Given the description of an element on the screen output the (x, y) to click on. 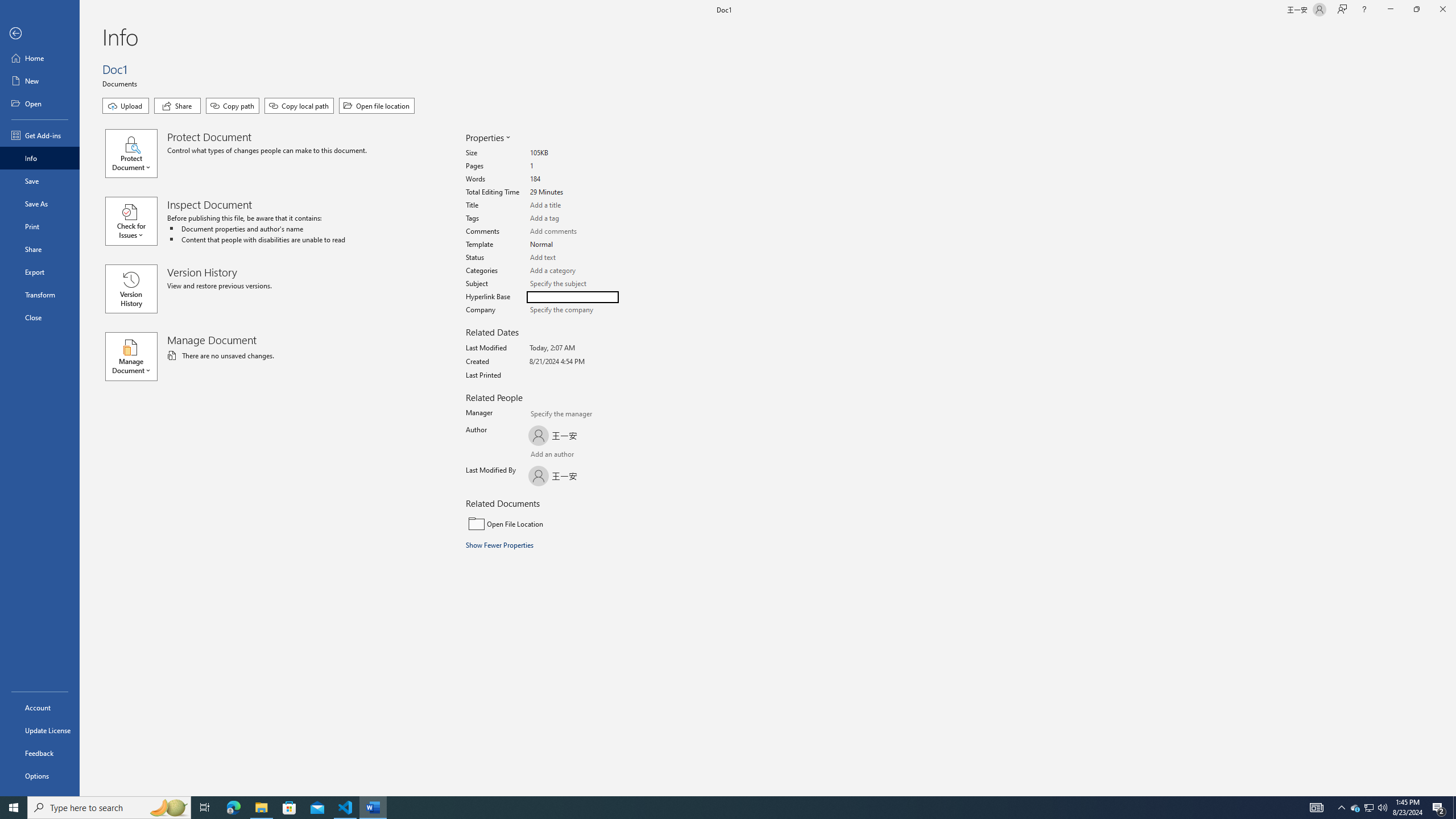
Check for Issues (135, 220)
Open File Location (541, 523)
Transform (40, 294)
Browse Address Book (595, 455)
Upload (124, 105)
Share (40, 248)
New (40, 80)
Save (40, 180)
Hyperlink Base (572, 296)
Comments (572, 231)
Close (1442, 9)
